Given the description of an element on the screen output the (x, y) to click on. 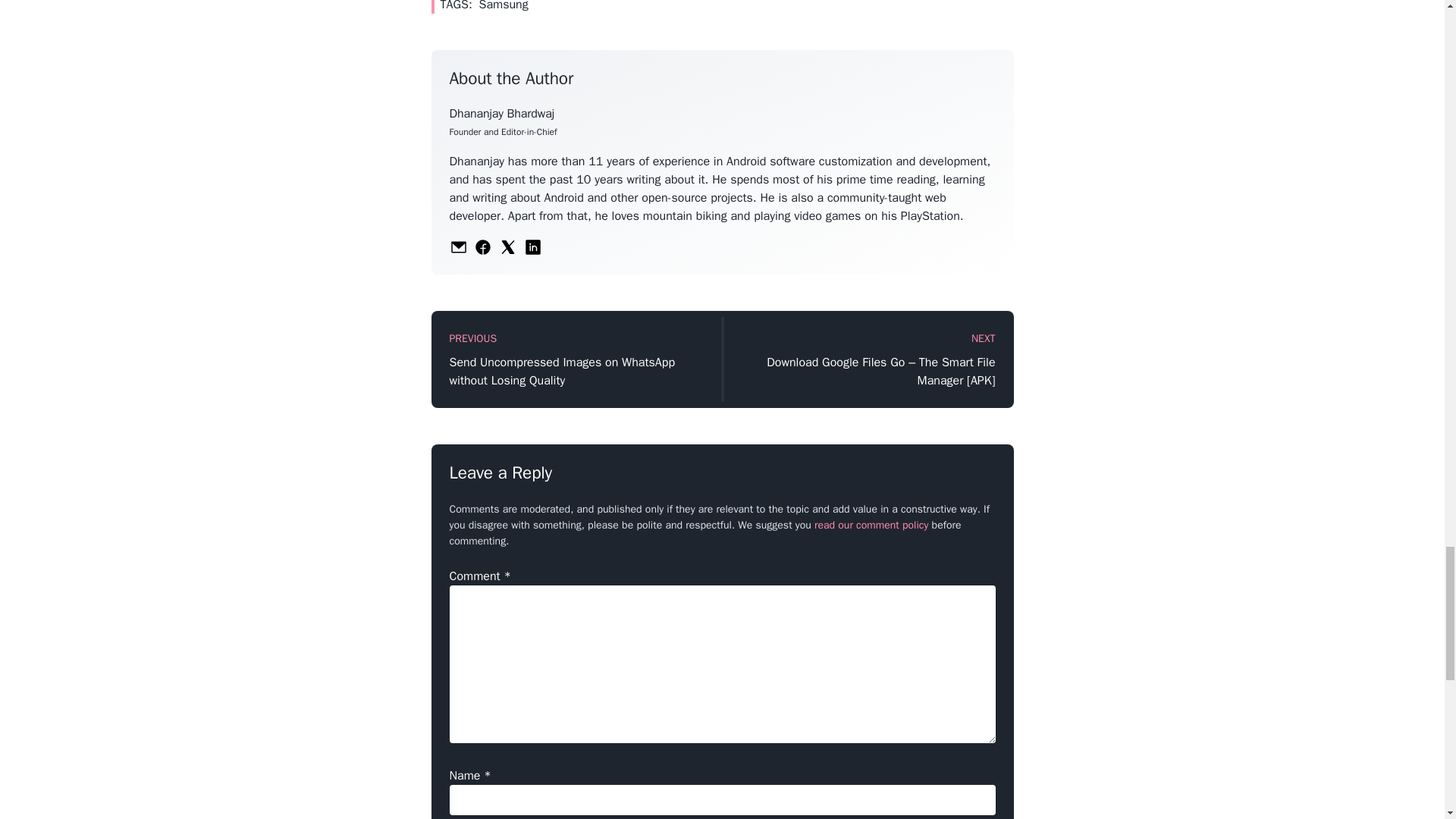
Samsung (503, 6)
Dhananjay Bhardwaj (501, 113)
Send Uncompressed Images on WhatsApp without Losing Quality (577, 370)
read our comment policy (870, 524)
